Given the description of an element on the screen output the (x, y) to click on. 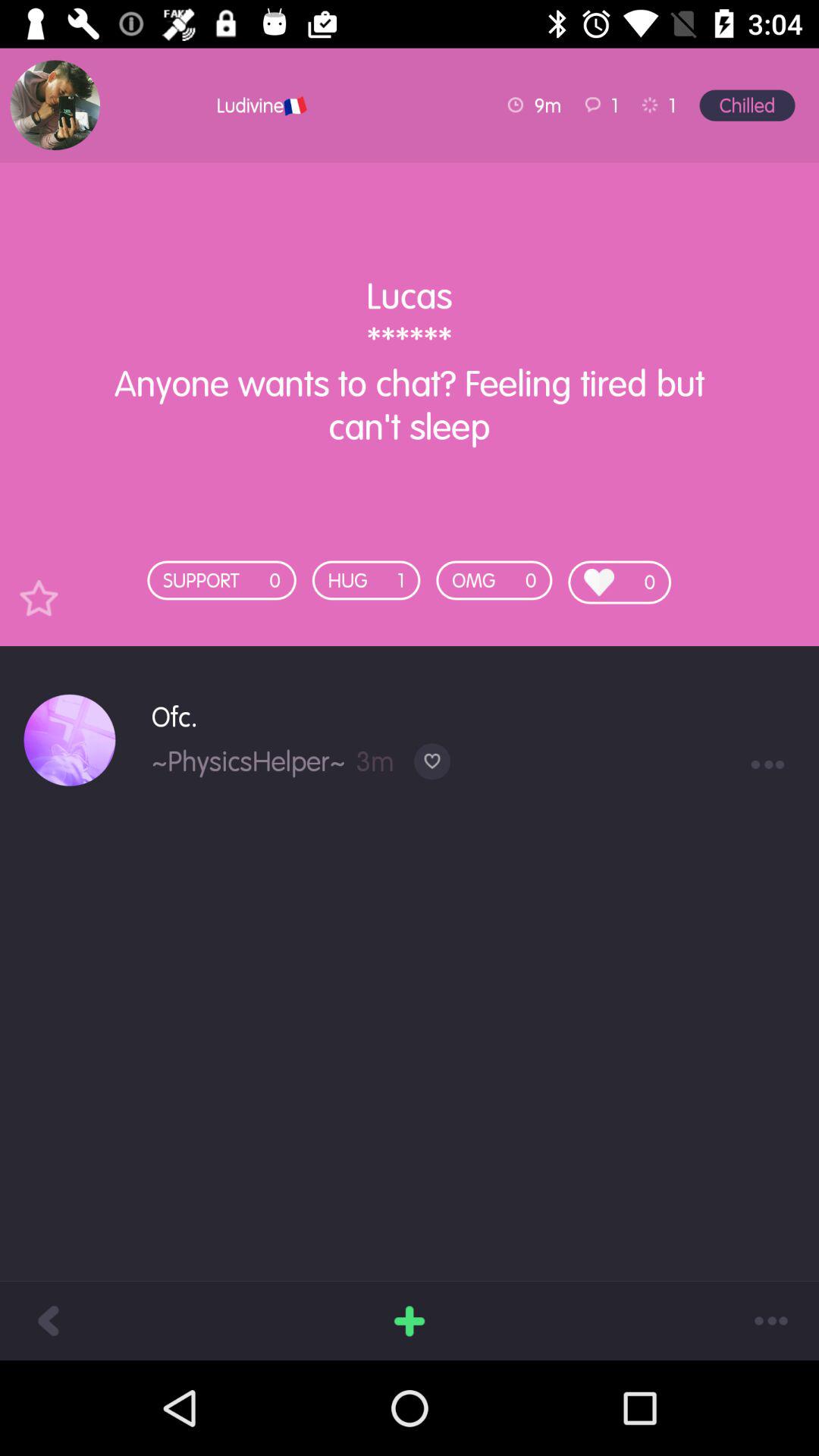
click the icon below ofc. icon (248, 761)
